Given the description of an element on the screen output the (x, y) to click on. 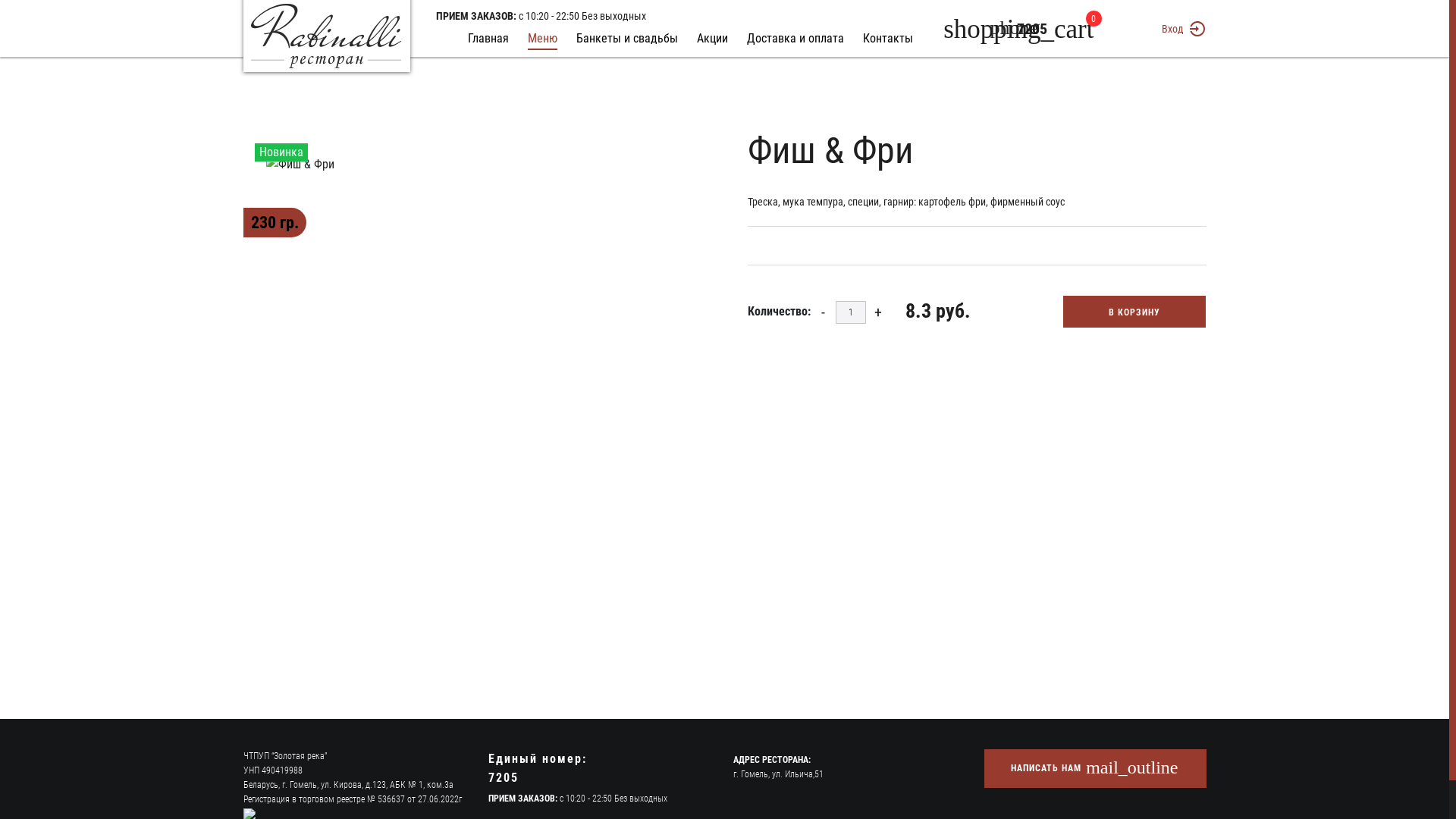
+ Element type: text (878, 312)
7205 Element type: text (503, 777)
- Element type: text (821, 312)
phone Element type: text (22, 10)
7205 Element type: text (1031, 28)
